Given the description of an element on the screen output the (x, y) to click on. 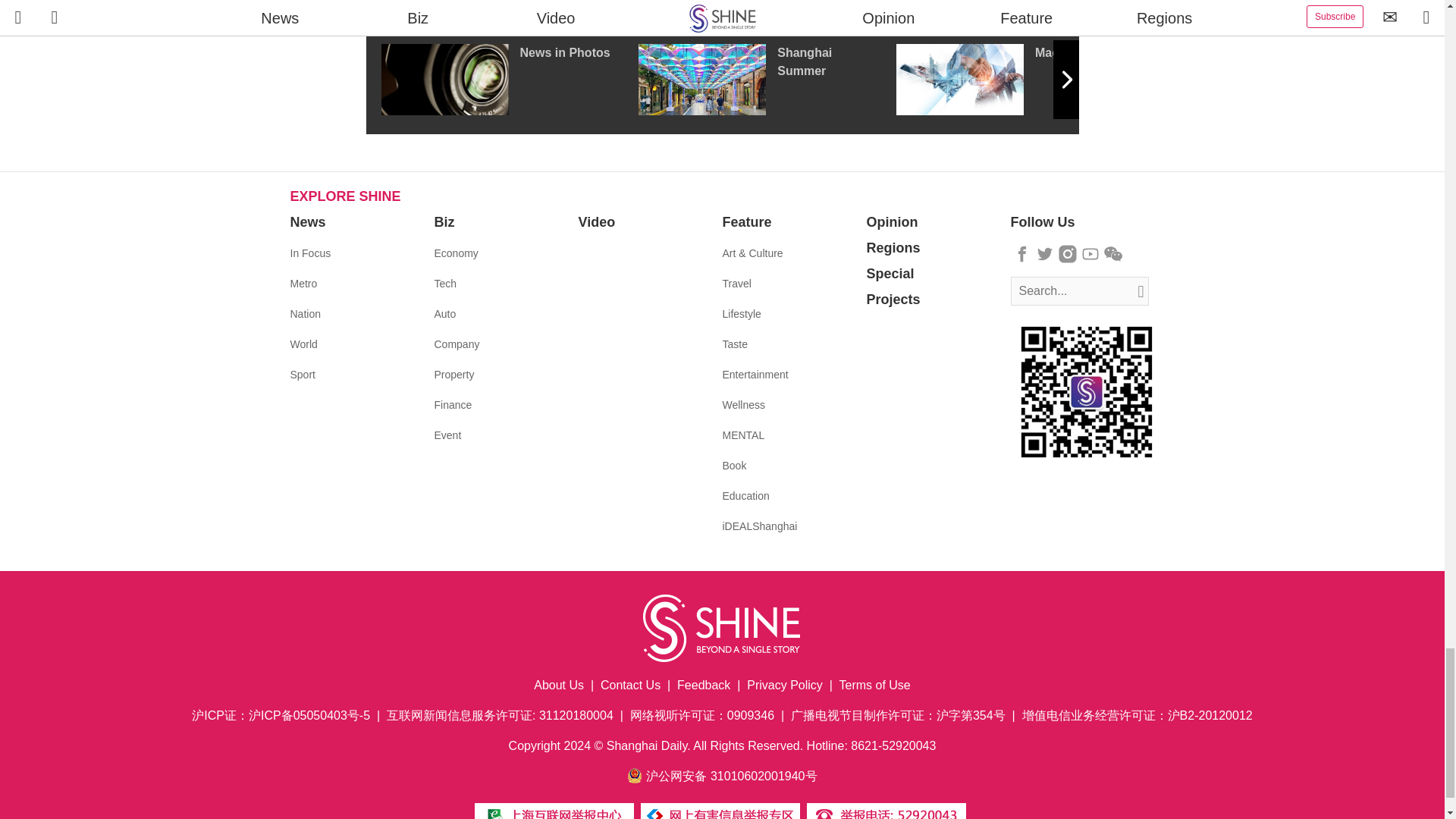
Special Reports (721, 8)
Follow us on Twitter (1044, 253)
Shanghai Summer (767, 79)
News in Photos (508, 79)
Follow us on Youtube (1090, 253)
Follow us on Instagram (1067, 253)
Follow us on Wechat (1112, 253)
Follow us on Facebook (1021, 253)
MagHub (1024, 79)
